Given the description of an element on the screen output the (x, y) to click on. 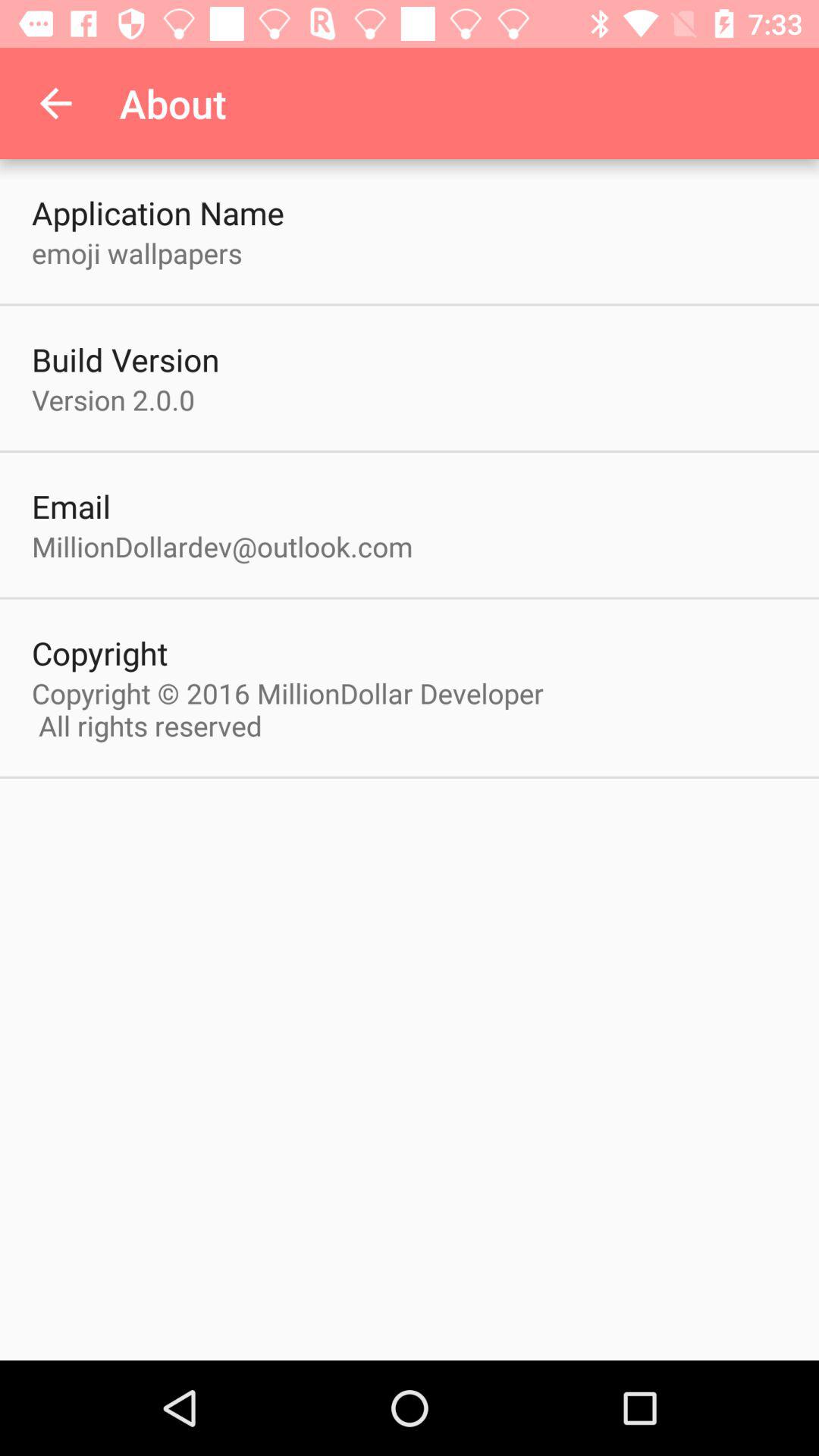
press the emoji wallpapers item (136, 252)
